Given the description of an element on the screen output the (x, y) to click on. 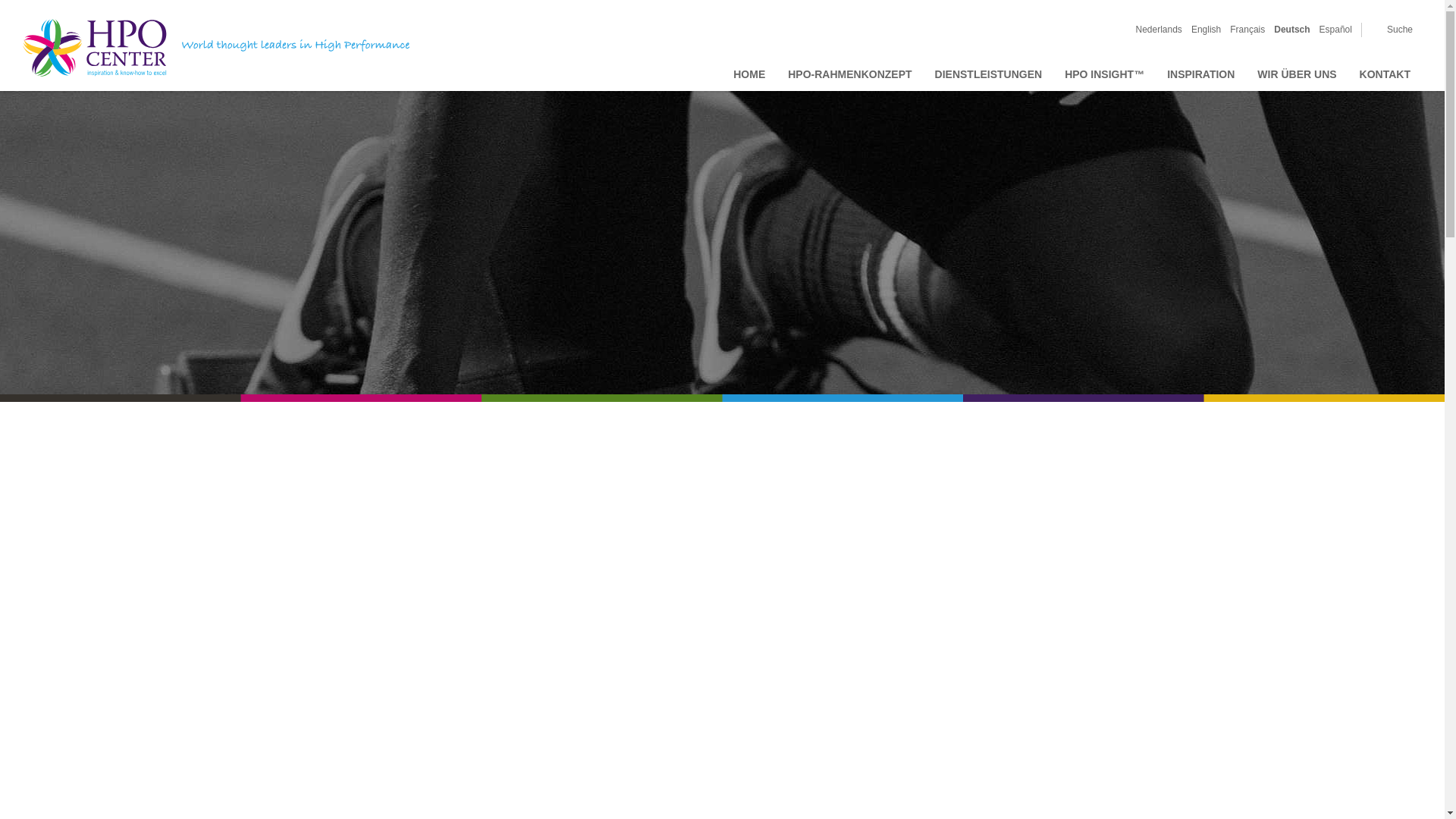
Nederlands (1158, 29)
HPO-RAHMENKONZEPT (849, 74)
DIENSTLEISTUNGEN (988, 74)
English (1206, 29)
Suche (1392, 29)
KONTAKT (1385, 74)
HOME (749, 74)
INSPIRATION (1201, 74)
